Given the description of an element on the screen output the (x, y) to click on. 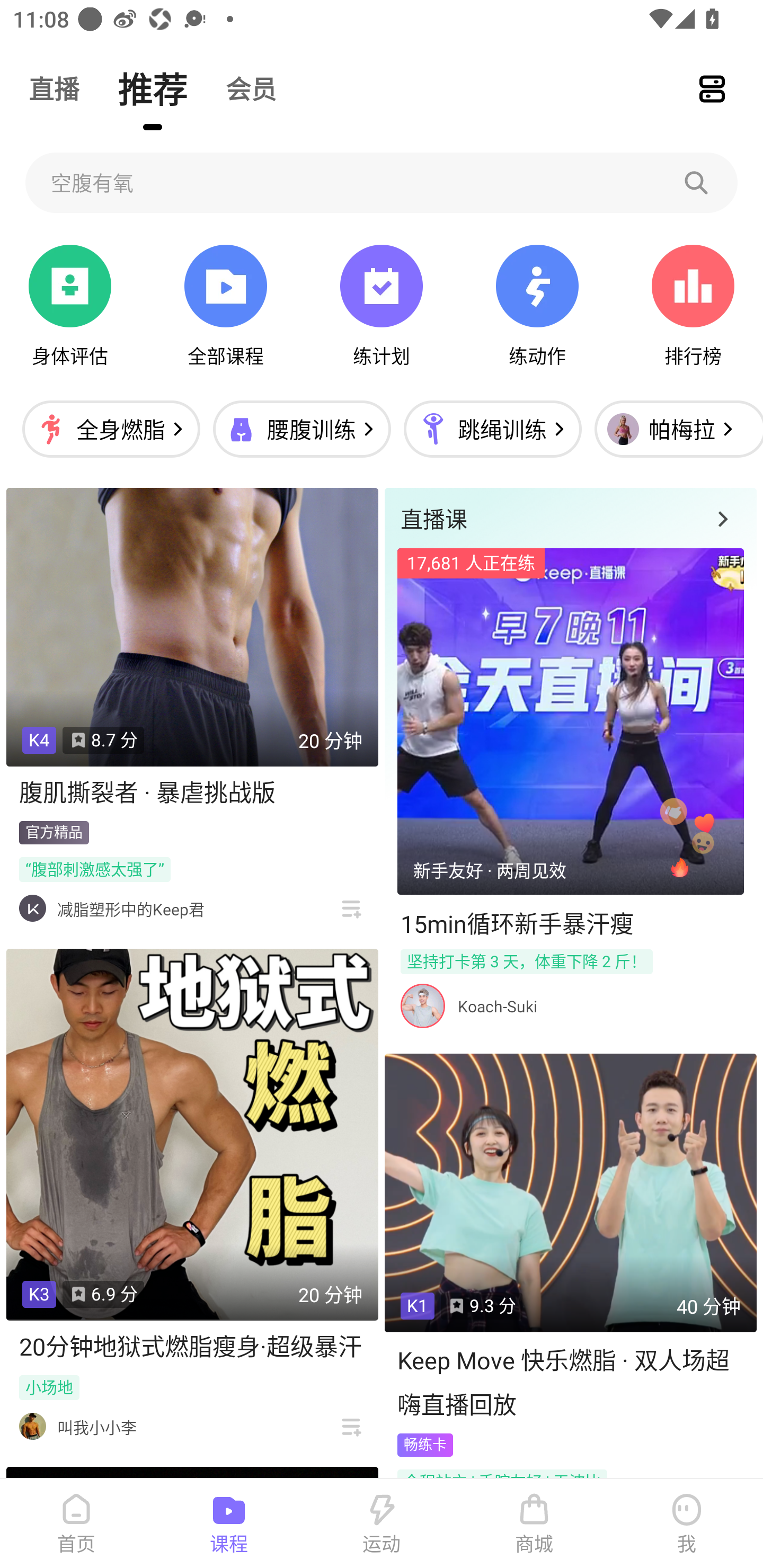
直播 (53, 88)
推荐 (152, 88)
会员 (251, 88)
空腹有氧 (381, 182)
身体评估 (69, 306)
全部课程 (225, 306)
练计划 (381, 306)
练动作 (537, 306)
排行榜 (692, 306)
全身燃脂 更多 (110, 428)
腰腹训练 更多 (301, 428)
跳绳训练 更多 (492, 428)
帕梅拉 更多 (673, 428)
直播课 (570, 517)
减脂塑形中的Keep君 (130, 909)
K3 6.9 分 20 分钟 20分钟地狱式燃脂瘦身·超级暴汗 小场地 叫我小小李 (192, 1197)
Koach-Suki (497, 1006)
叫我小小李 (96, 1426)
首页 (76, 1523)
课程 (228, 1523)
运动 (381, 1523)
商城 (533, 1523)
我 (686, 1523)
